Given the description of an element on the screen output the (x, y) to click on. 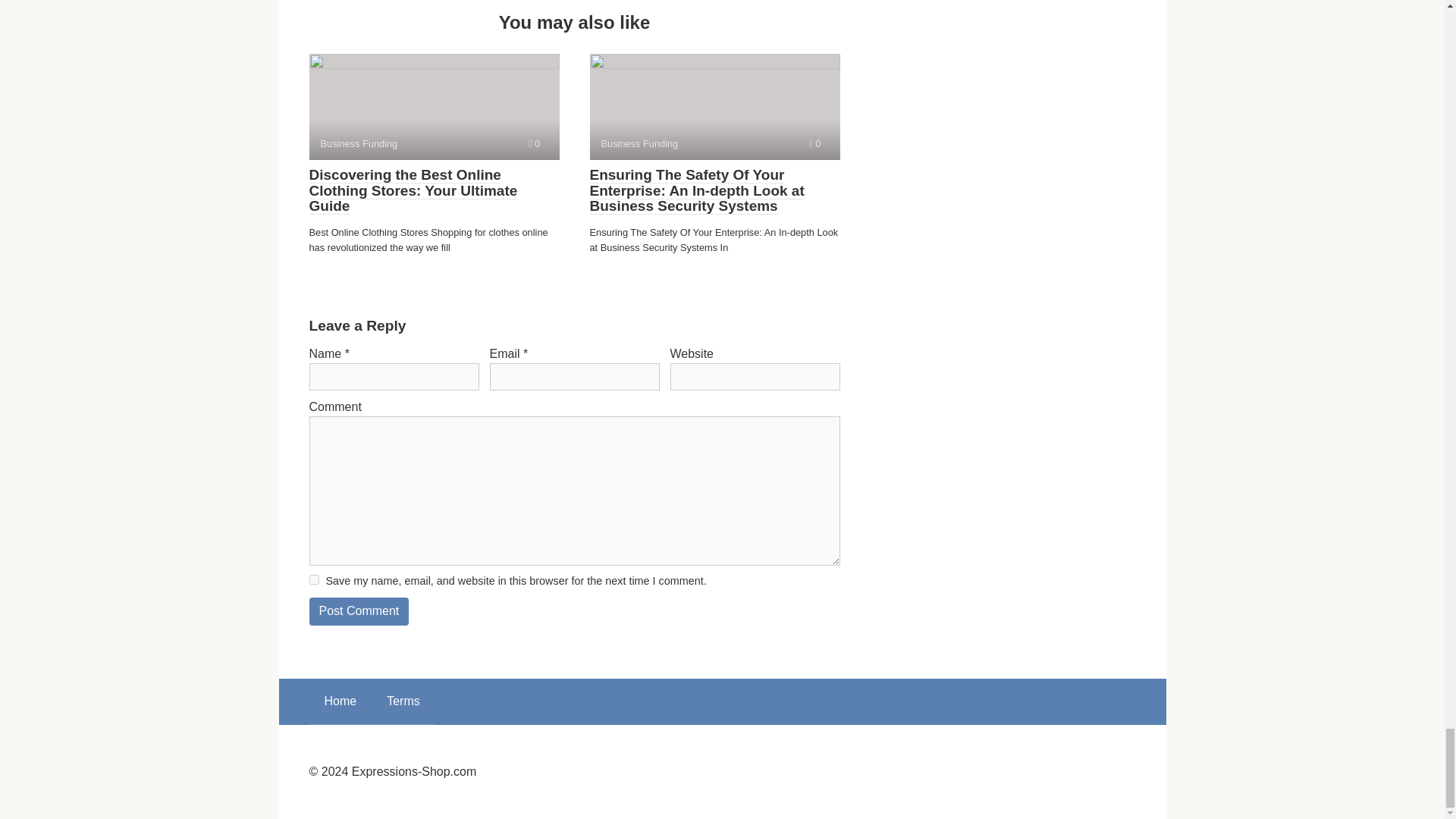
Terms (714, 106)
Post Comment (403, 700)
Post Comment (358, 611)
yes (433, 106)
Home (358, 611)
